Given the description of an element on the screen output the (x, y) to click on. 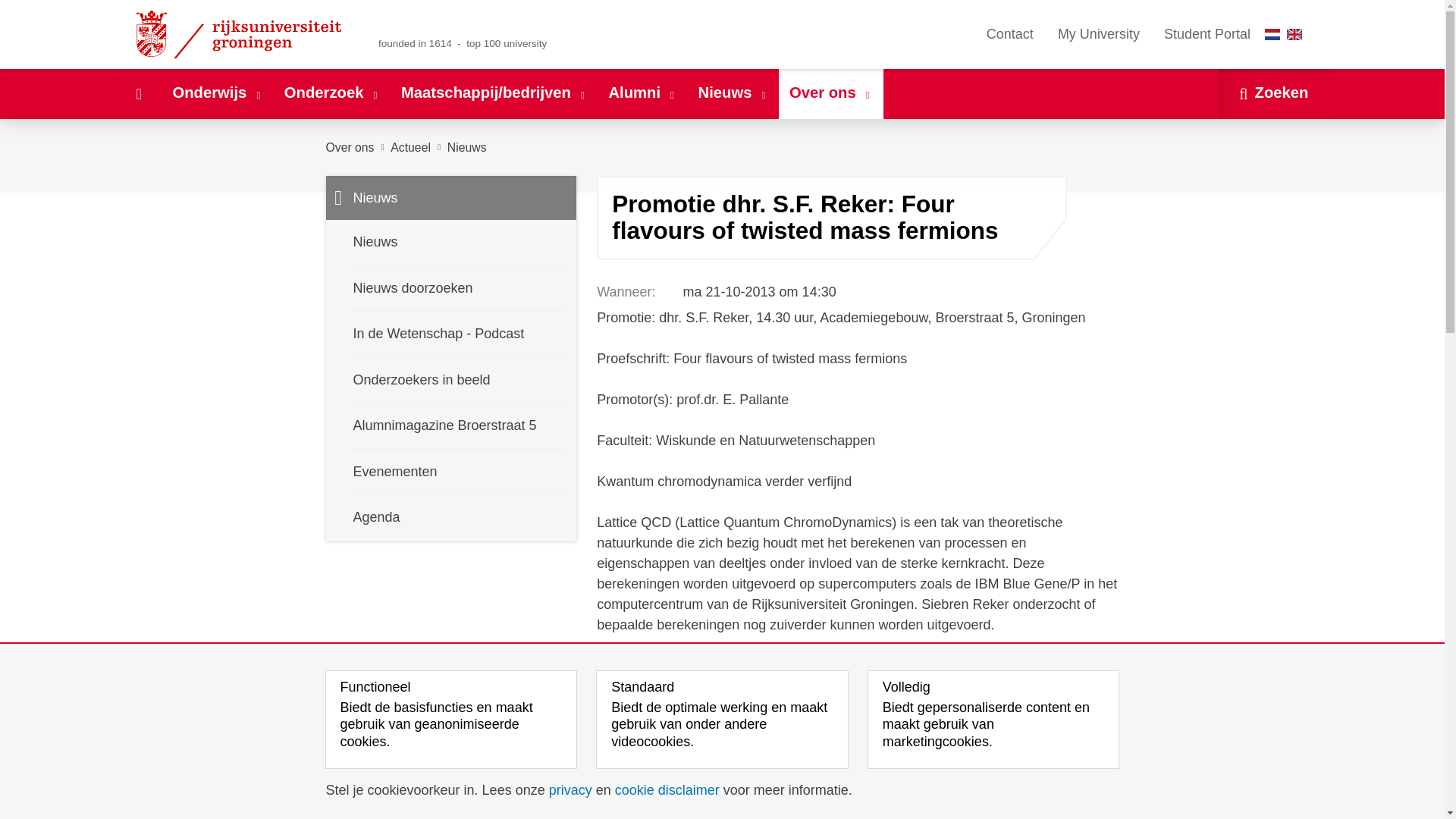
Onderwijs (217, 93)
Rijksuniversiteit Groningen (241, 34)
Home (138, 93)
Student Portal (1206, 34)
Taal selectie (1286, 34)
Nederlands (1272, 33)
English (1293, 33)
Contact (1009, 34)
My University (1098, 34)
Onderzoek (331, 93)
